Given the description of an element on the screen output the (x, y) to click on. 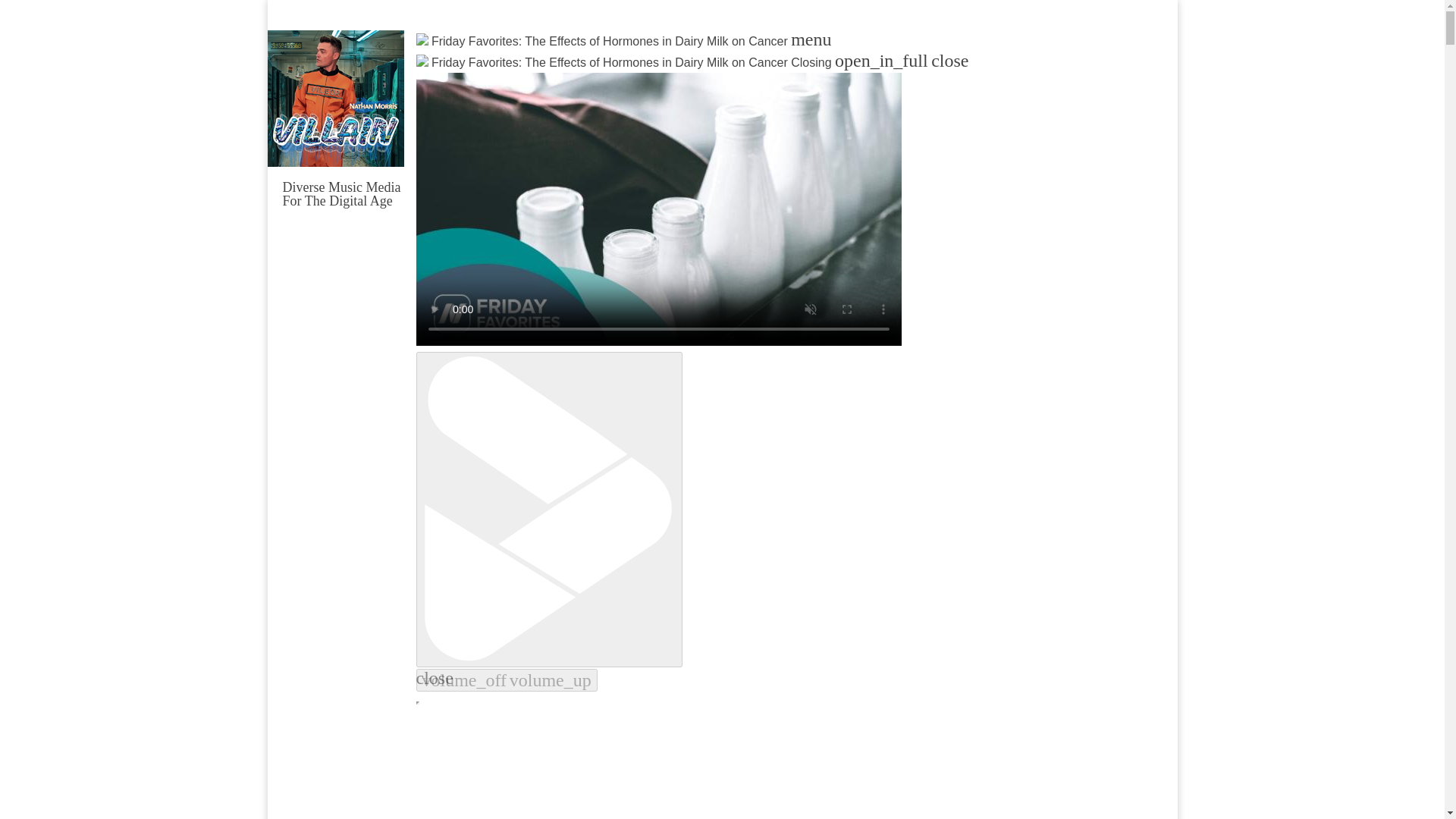
Skope Entertainment Inc (462, 220)
Skope Entertainment Inc (462, 220)
